Given the description of an element on the screen output the (x, y) to click on. 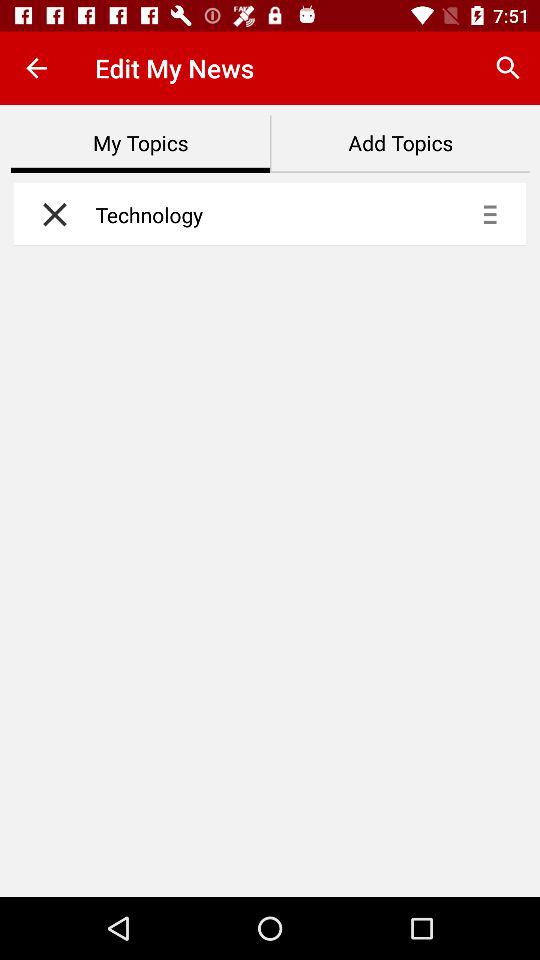
remove topic (49, 214)
